Given the description of an element on the screen output the (x, y) to click on. 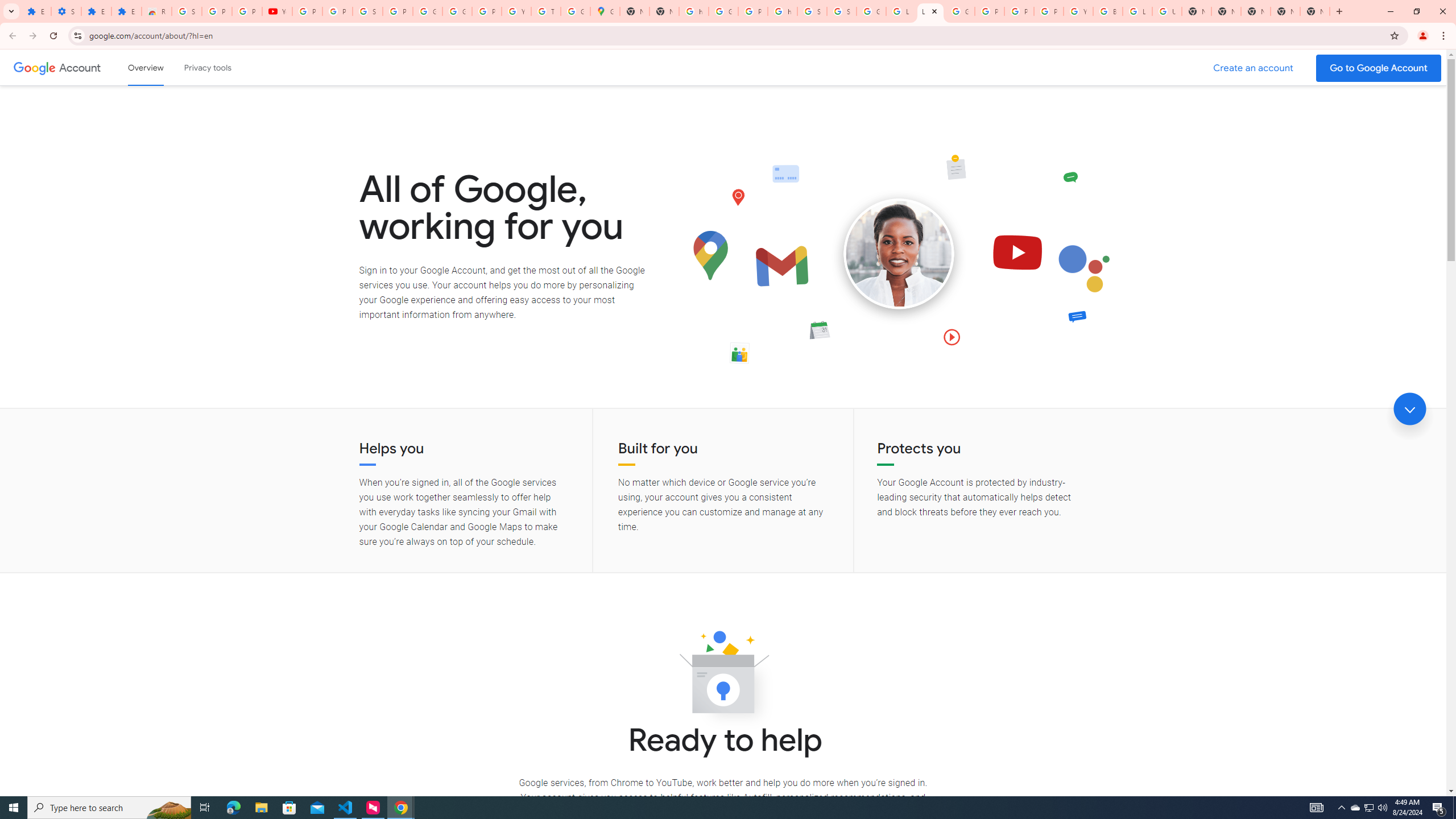
Privacy tools (207, 67)
https://scholar.google.com/ (782, 11)
Google Account (80, 67)
Reviews: Helix Fruit Jump Arcade Game (156, 11)
Skip to Content (162, 65)
